Given the description of an element on the screen output the (x, y) to click on. 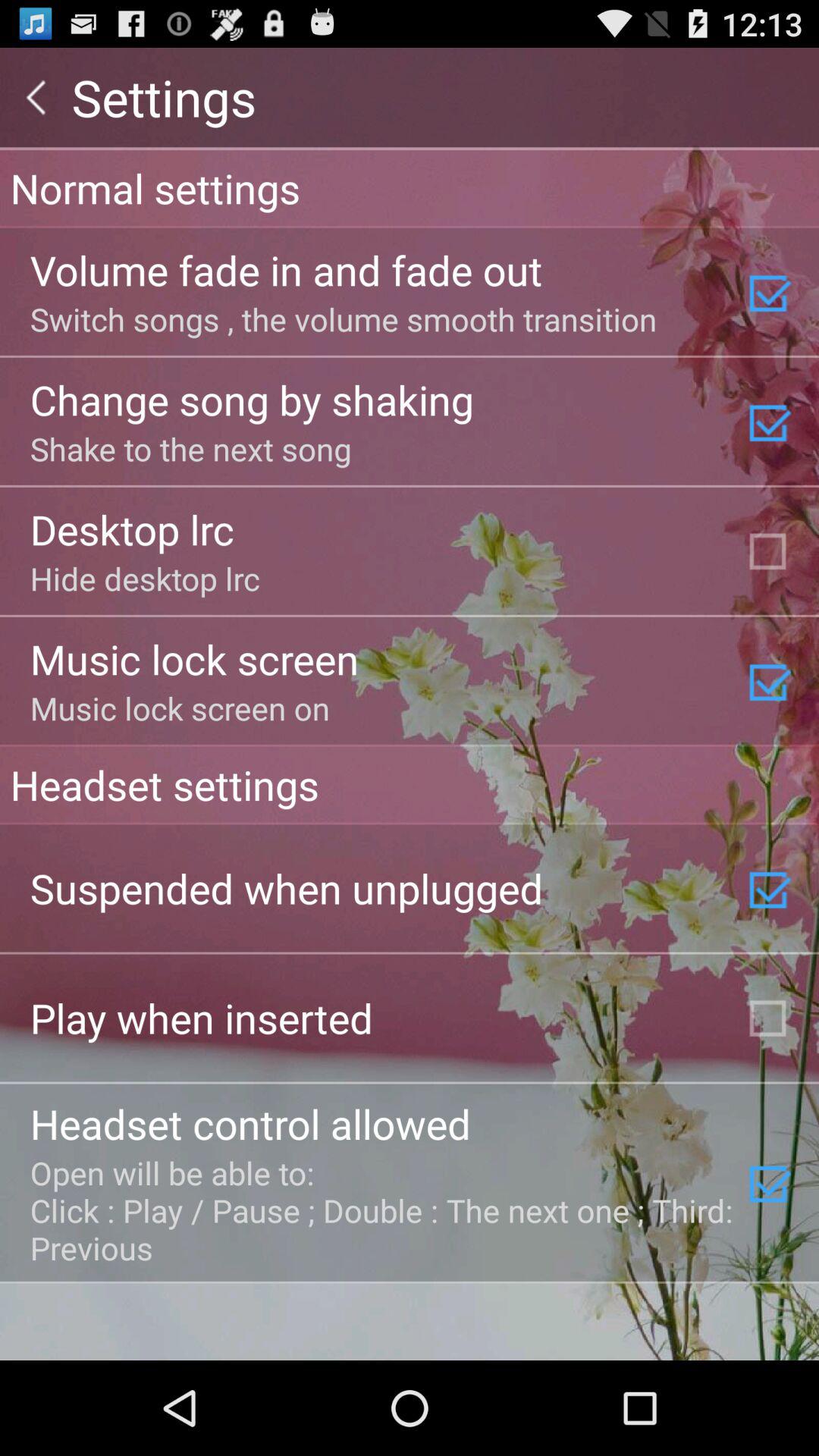
turn on icon above the shake to the icon (251, 399)
